Given the description of an element on the screen output the (x, y) to click on. 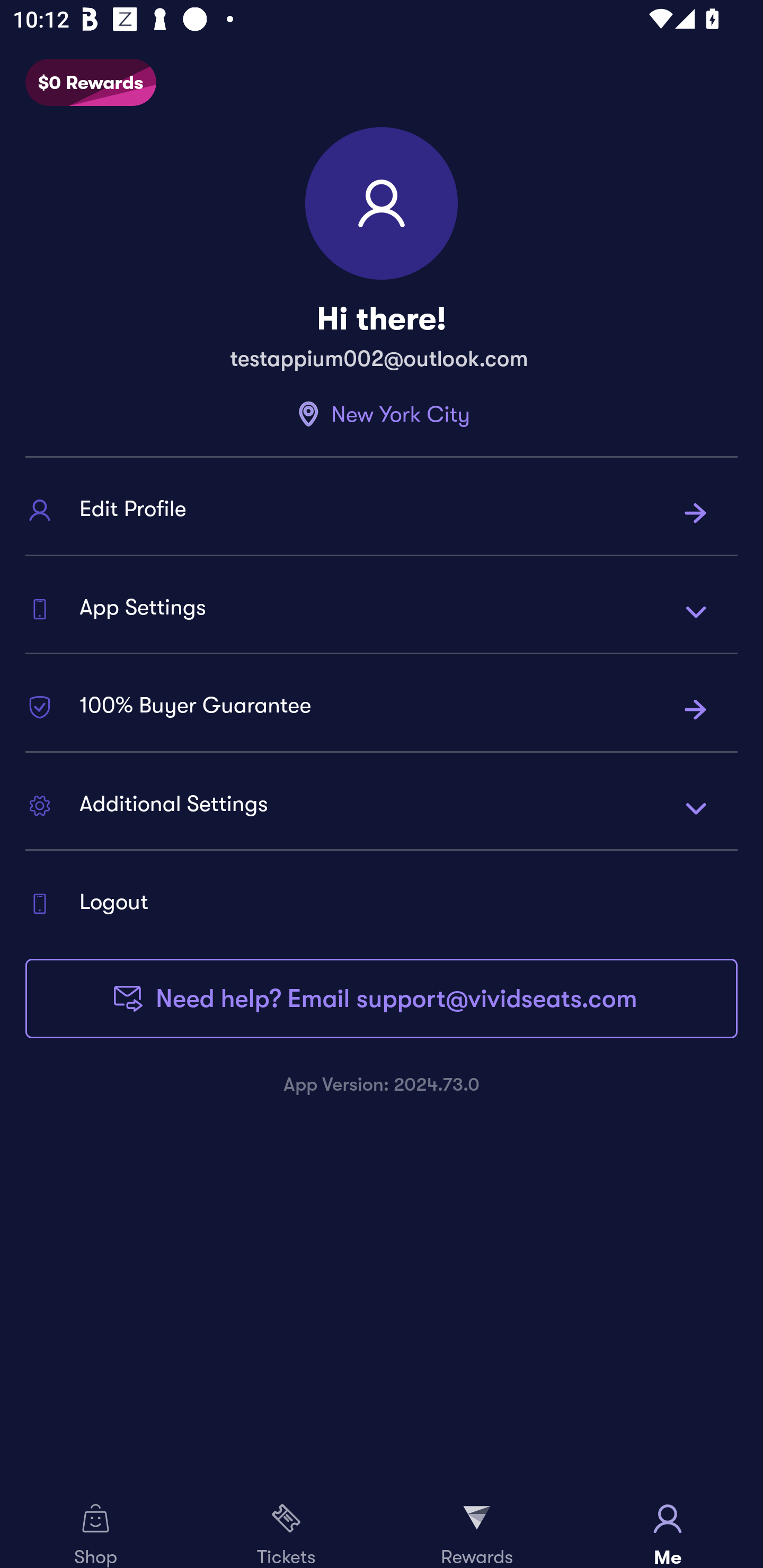
$0 Rewards (90, 82)
New York City (381, 413)
Edit Profile (381, 512)
App Settings  (381, 610)
100% Buyer Guarantee (381, 708)
Additional Settings  (381, 807)
Logout (381, 902)
Need help? Email support@vividseats.com (381, 997)
App Version: 2024.73.0 (381, 1083)
Shop (95, 1529)
Tickets (285, 1529)
Rewards (476, 1529)
Me (667, 1529)
